Given the description of an element on the screen output the (x, y) to click on. 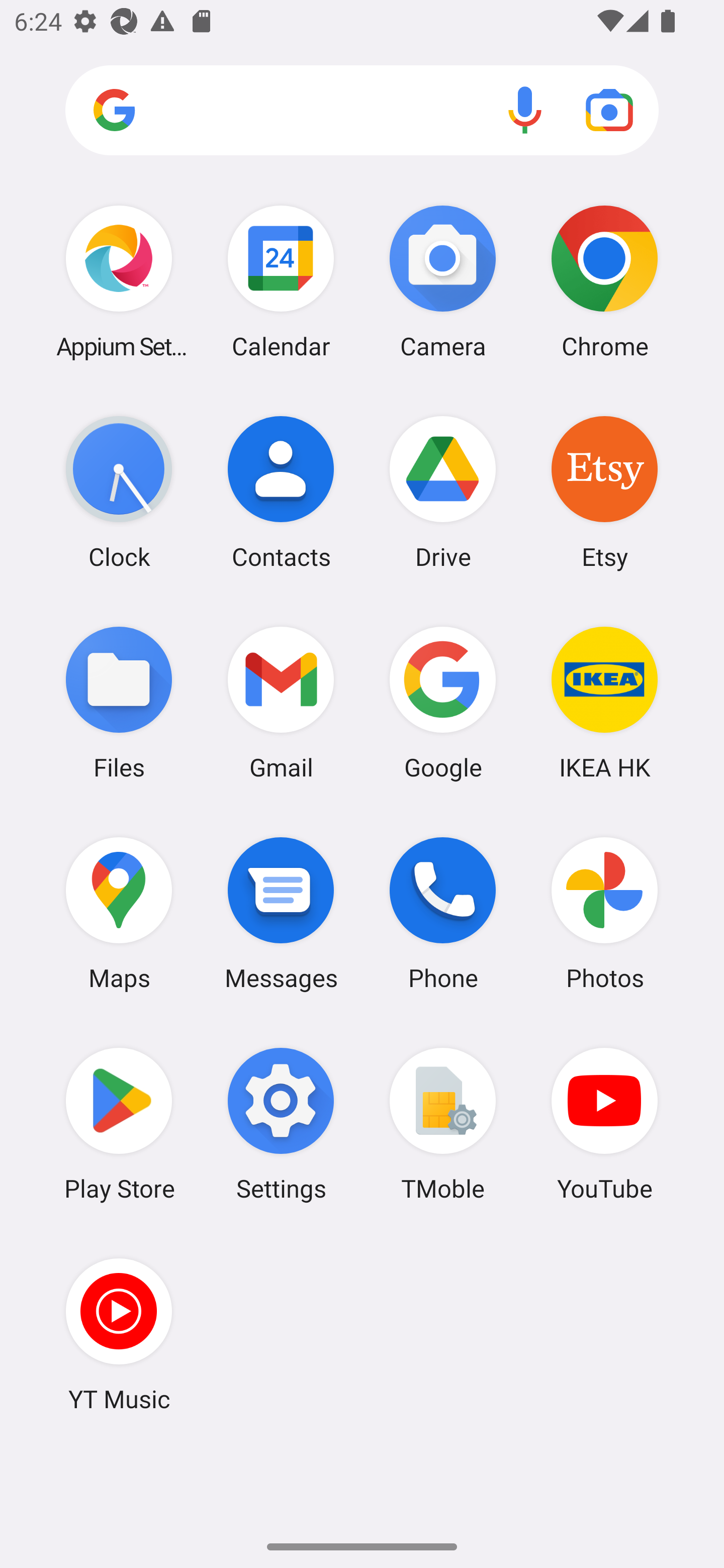
Search apps, web and more (361, 110)
Voice search (524, 109)
Google Lens (608, 109)
Appium Settings (118, 281)
Calendar (280, 281)
Camera (443, 281)
Chrome (604, 281)
Clock (118, 492)
Contacts (280, 492)
Drive (443, 492)
Etsy (604, 492)
Files (118, 702)
Gmail (280, 702)
Google (443, 702)
IKEA HK (604, 702)
Maps (118, 913)
Messages (280, 913)
Phone (443, 913)
Photos (604, 913)
Play Store (118, 1124)
Settings (280, 1124)
TMoble (443, 1124)
YouTube (604, 1124)
YT Music (118, 1334)
